Given the description of an element on the screen output the (x, y) to click on. 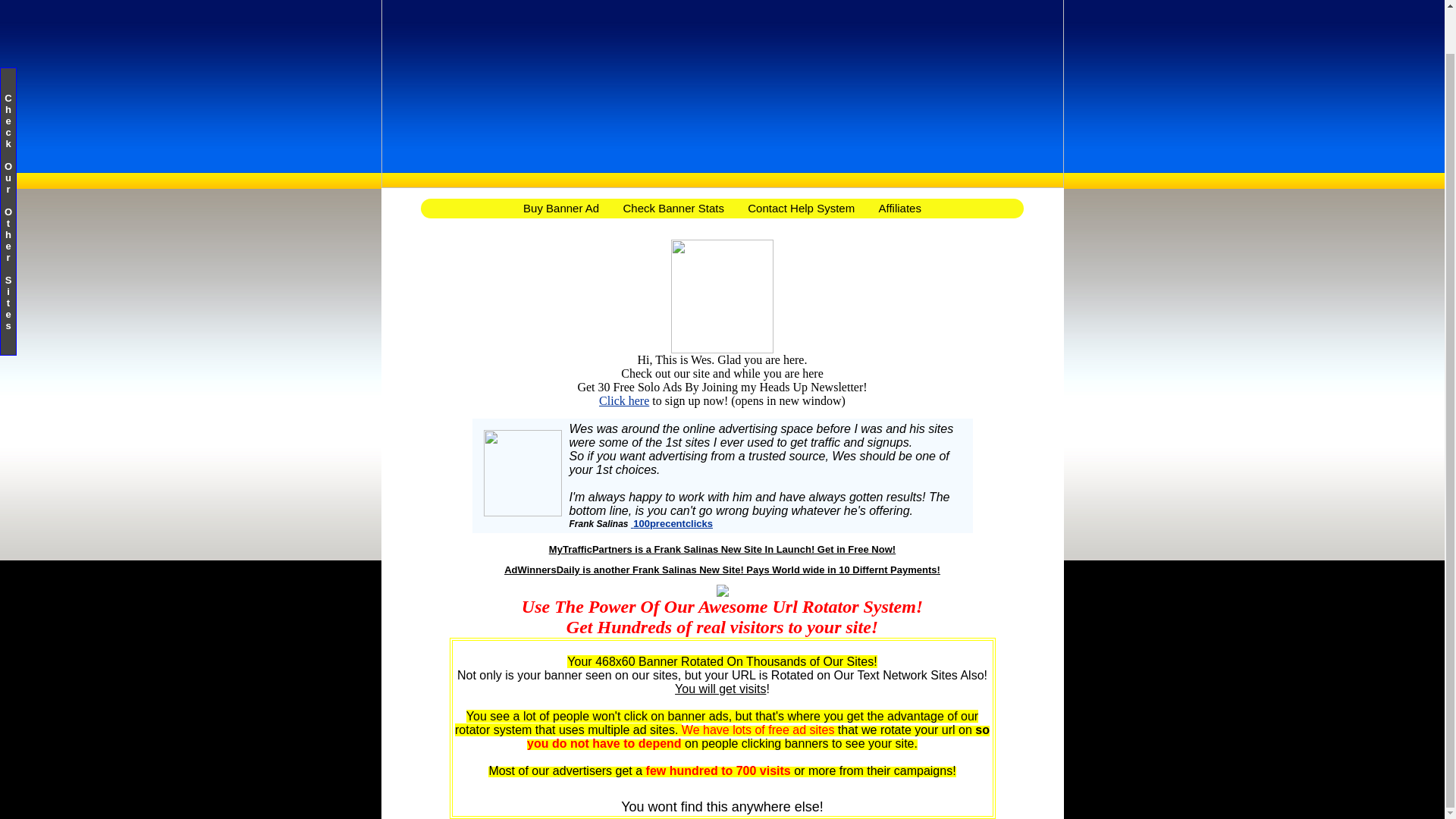
Check Banner Stats (673, 208)
Contact Help System (800, 208)
Click here (623, 400)
Affiliates (899, 208)
 100precentclicks (671, 523)
Buy Banner Ad (561, 208)
